Given the description of an element on the screen output the (x, y) to click on. 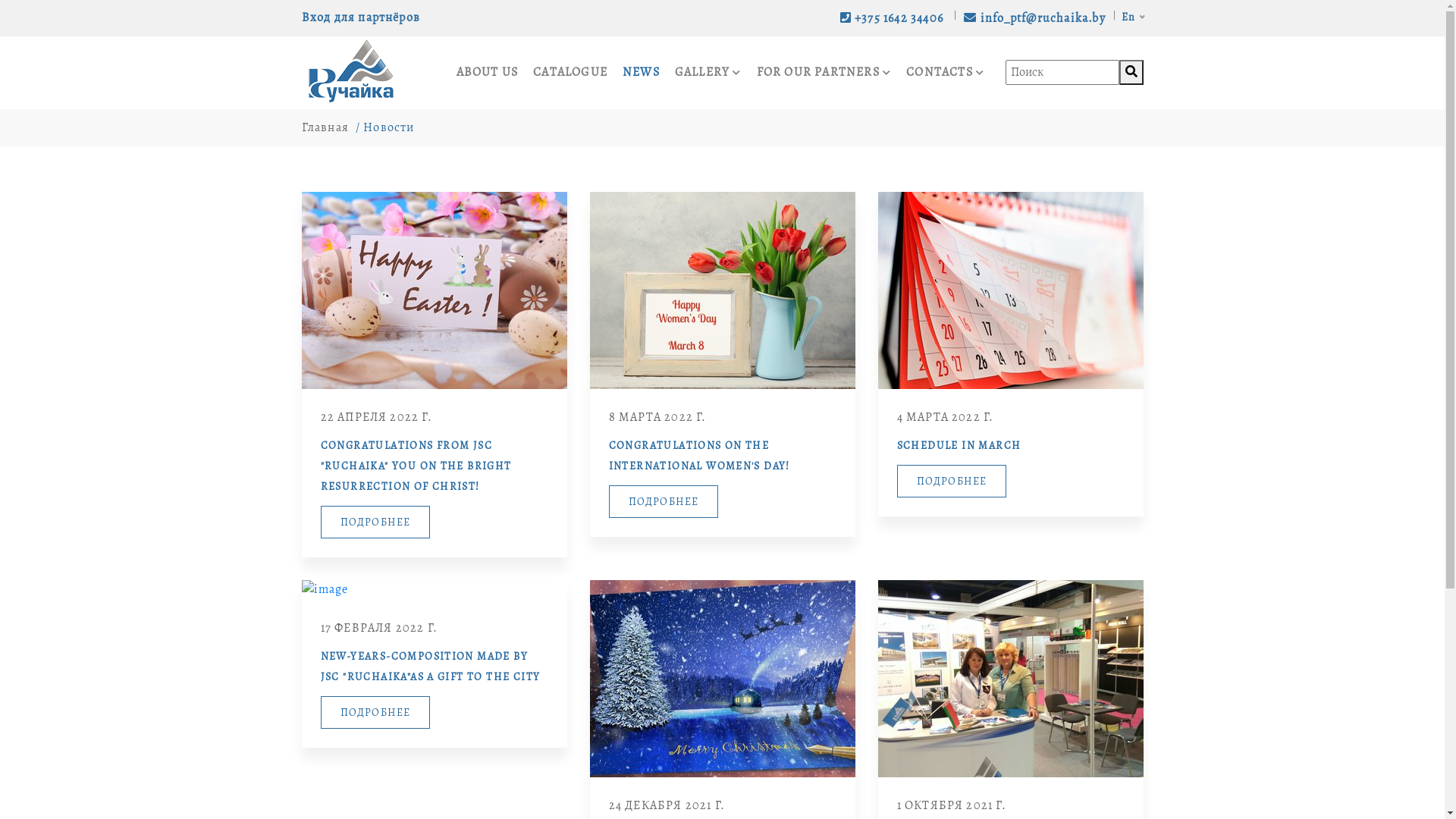
CATALOGUE Element type: text (570, 72)
 info_ptf@ruchaika.by Element type: text (1033, 17)
ABOUT US Element type: text (487, 72)
FOR OUR PARTNERS Element type: text (823, 72)
SCHEDULE IN MARCH Element type: text (1009, 445)
NEWS Element type: text (640, 72)
CONTACTS Element type: text (945, 72)
GALLERY Element type: text (707, 72)
 +375 1642 34406  Element type: text (892, 17)
